Given the description of an element on the screen output the (x, y) to click on. 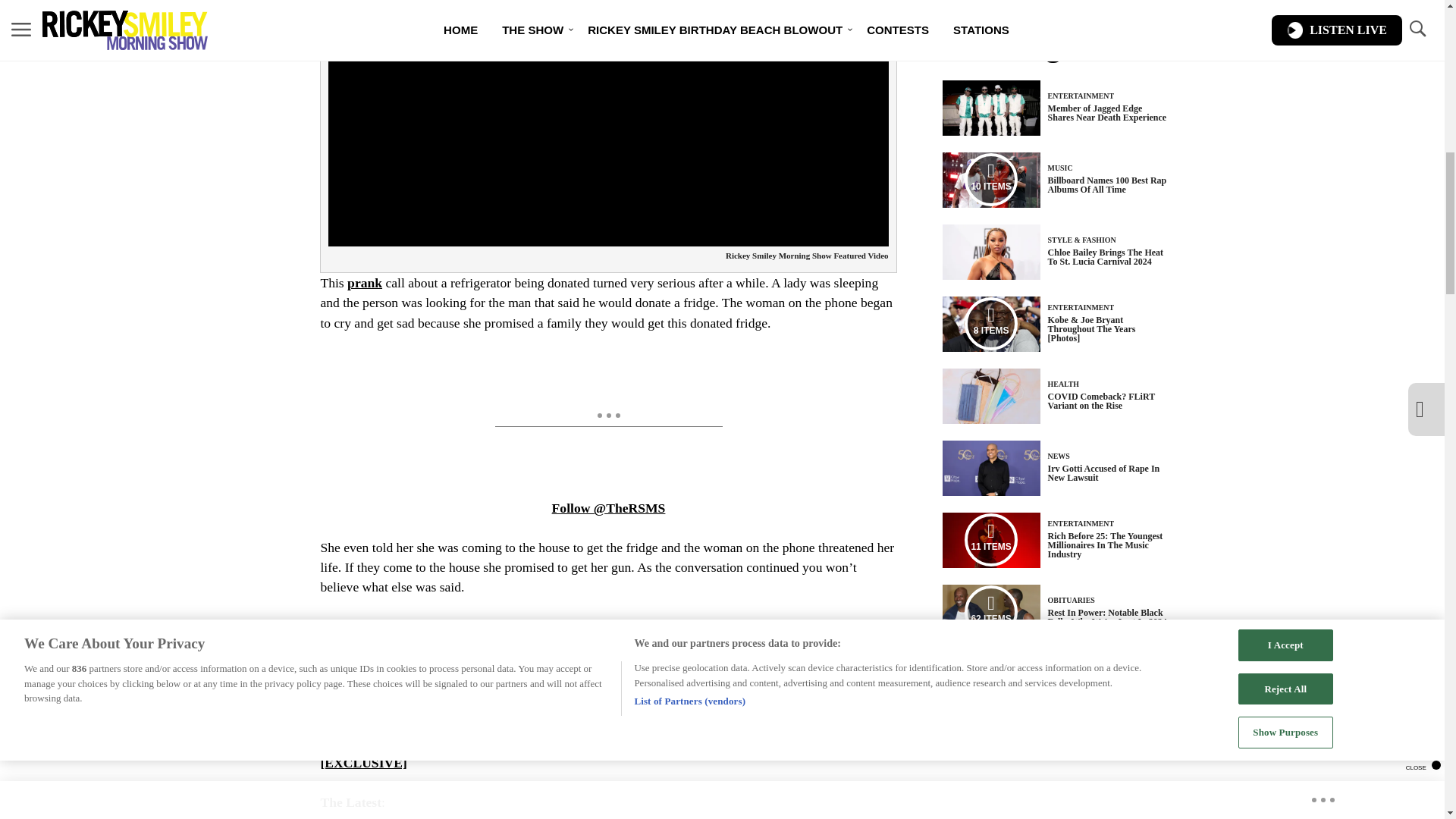
Media Playlist (990, 323)
Media Playlist (990, 539)
Media Playlist (990, 611)
The Rickey Smiley Morning Show (474, 703)
prank (364, 282)
Media Playlist (990, 179)
